Given the description of an element on the screen output the (x, y) to click on. 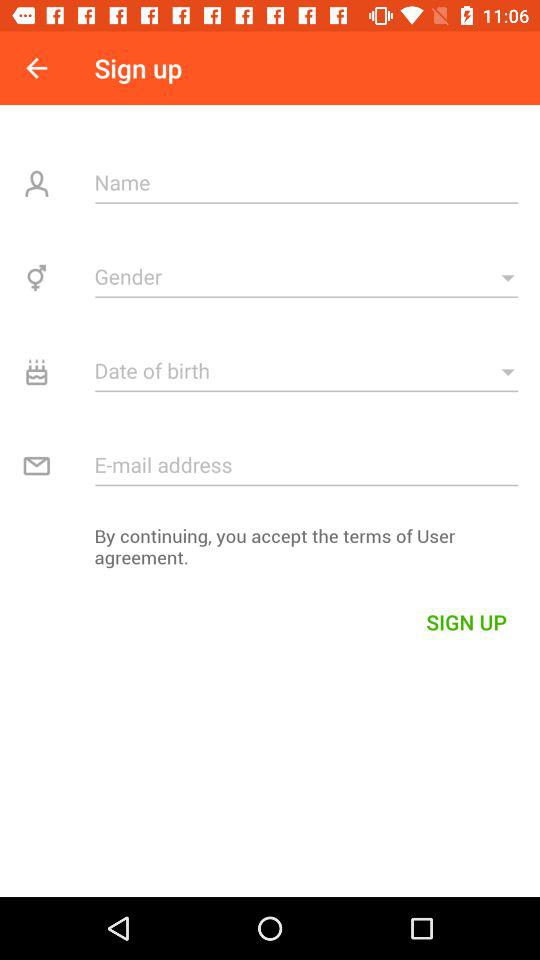
name entry field (306, 182)
